Given the description of an element on the screen output the (x, y) to click on. 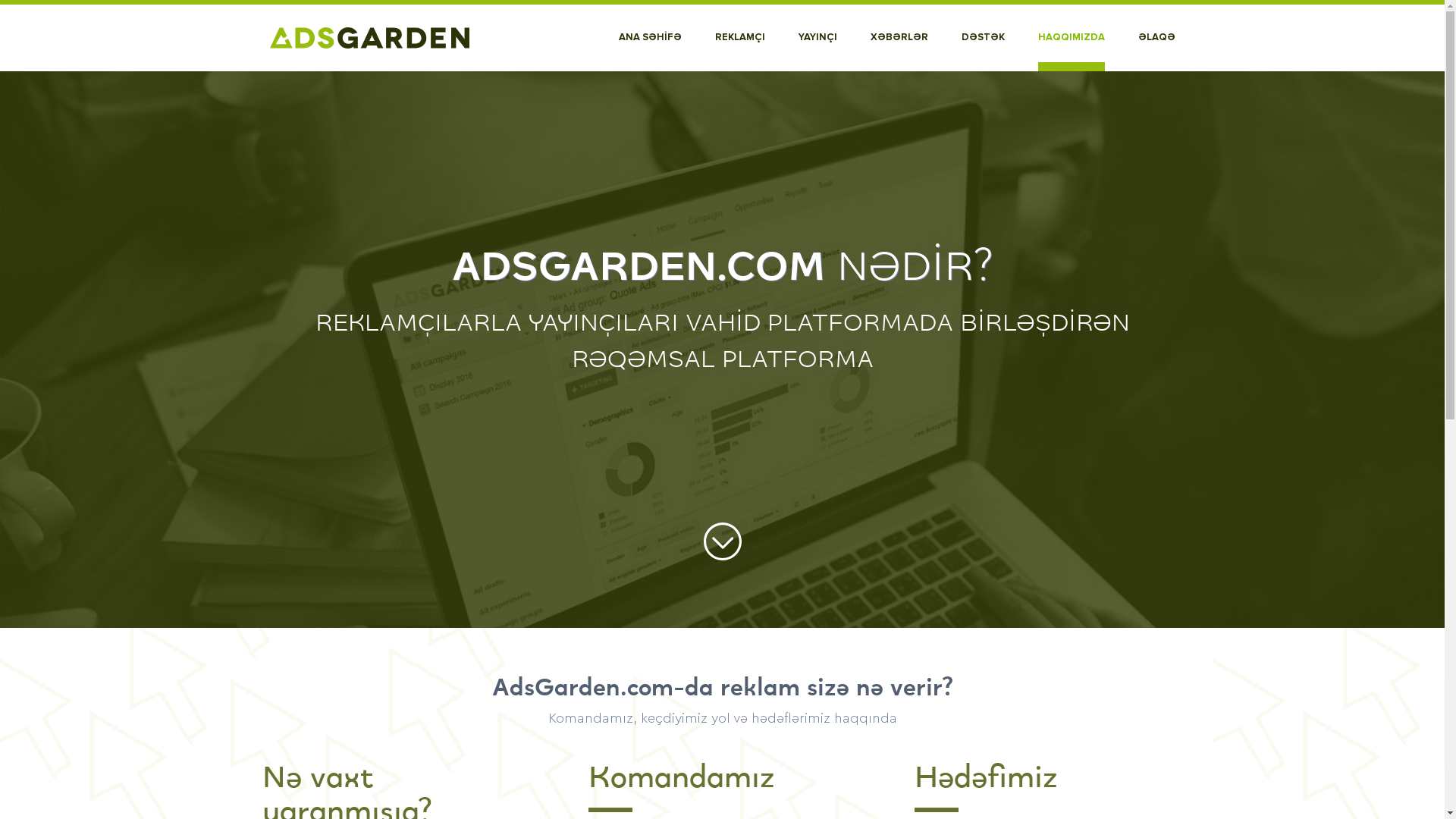
HAQQIMIZDA Element type: text (1070, 37)
